Given the description of an element on the screen output the (x, y) to click on. 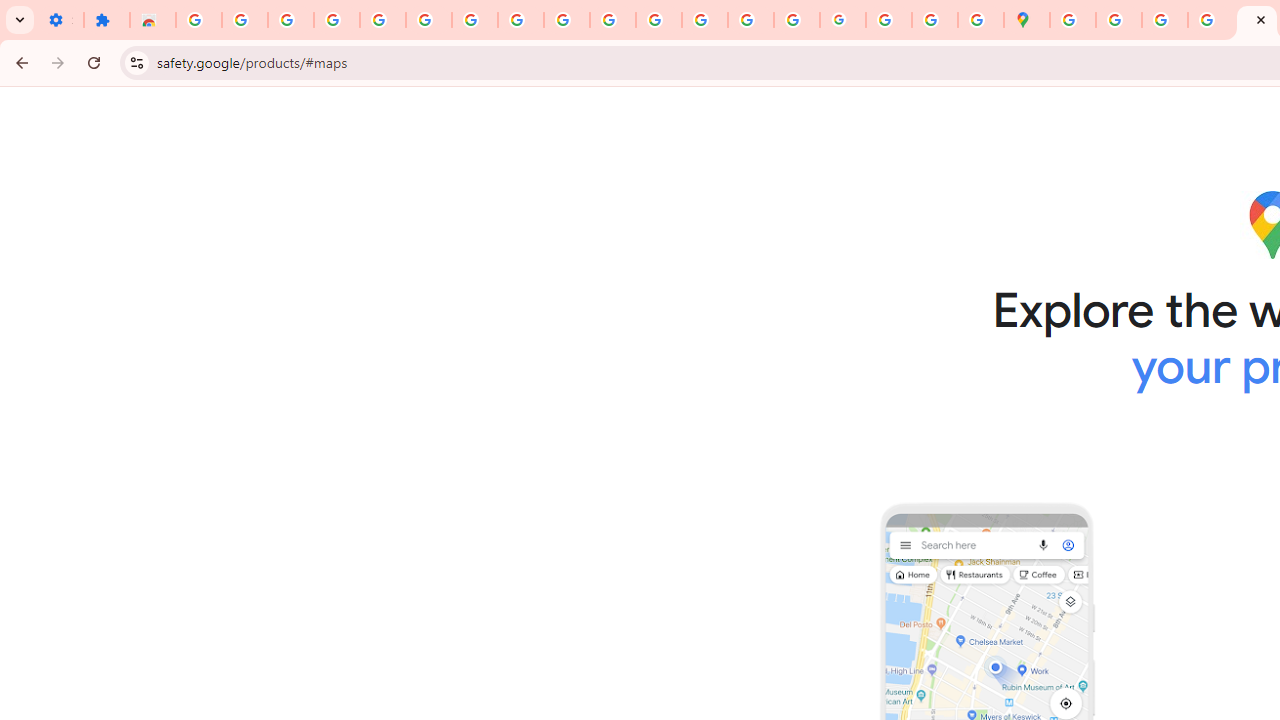
https://scholar.google.com/ (659, 20)
Reviews: Helix Fruit Jump Arcade Game (153, 20)
Google Maps (1026, 20)
Settings - On startup (60, 20)
Sign in - Google Accounts (198, 20)
